Given the description of an element on the screen output the (x, y) to click on. 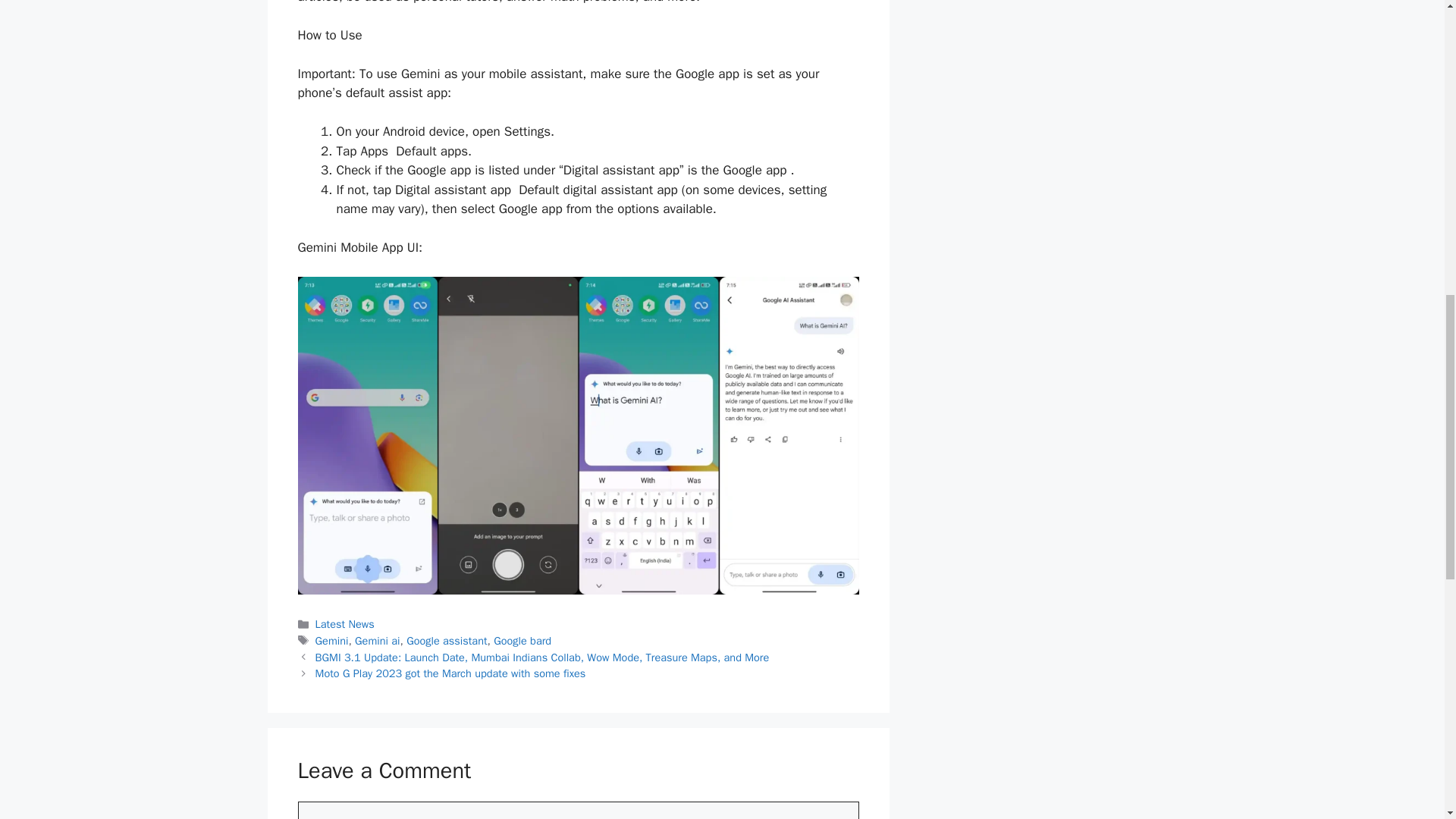
Google assistant (446, 640)
Gemini (332, 640)
Latest News (344, 623)
Moto G Play 2023 got the March update with some fixes (450, 673)
Gemini ai (376, 640)
Google bard (522, 640)
